Given the description of an element on the screen output the (x, y) to click on. 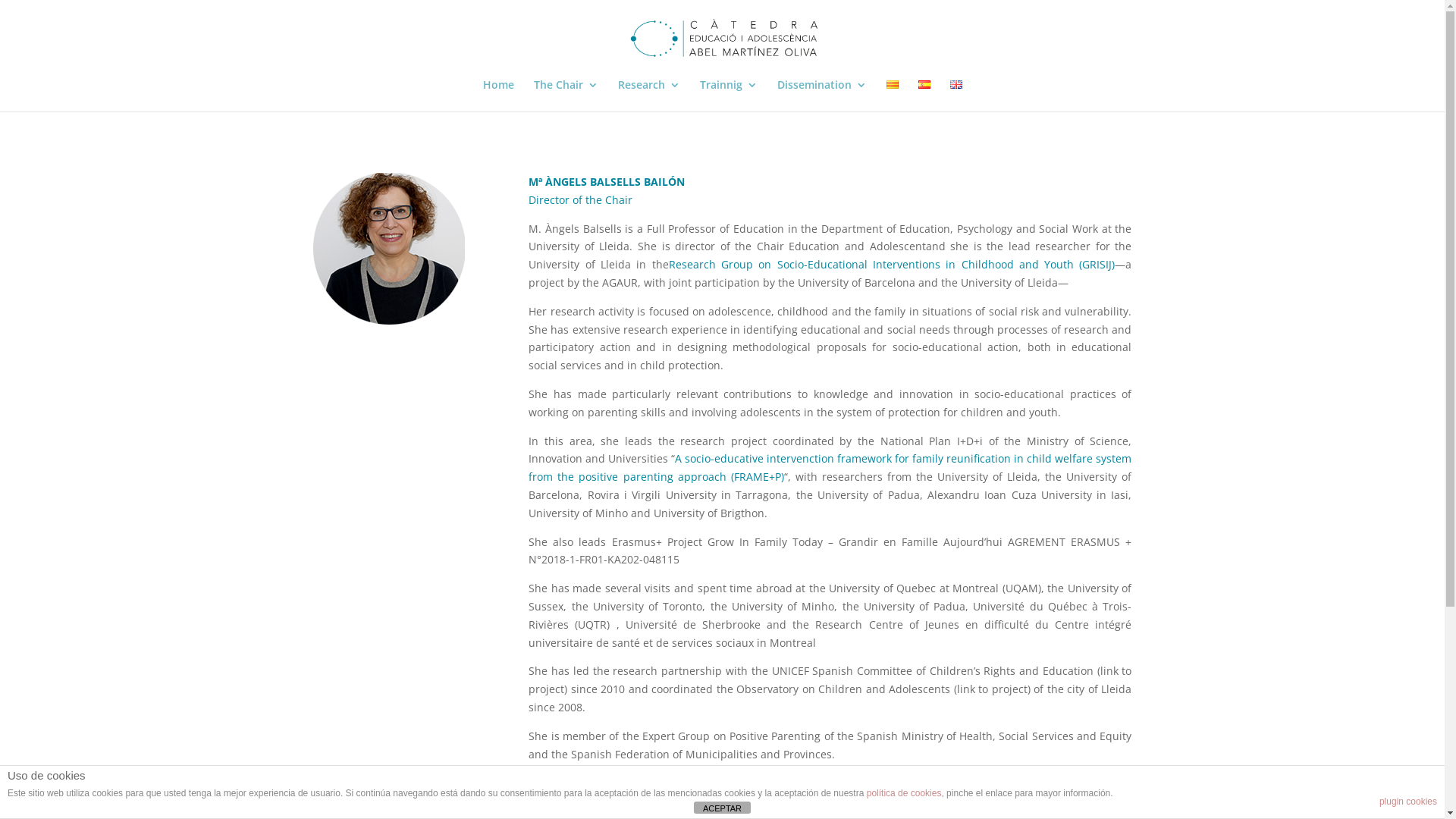
ACEPTAR Element type: text (721, 807)
Home Element type: text (497, 95)
Dissemination Element type: text (821, 95)
The Chair Element type: text (565, 95)
English Element type: hover (955, 84)
plugin cookies Element type: text (1408, 801)
Trainnig Element type: text (727, 95)
Research Element type: text (648, 95)
